Given the description of an element on the screen output the (x, y) to click on. 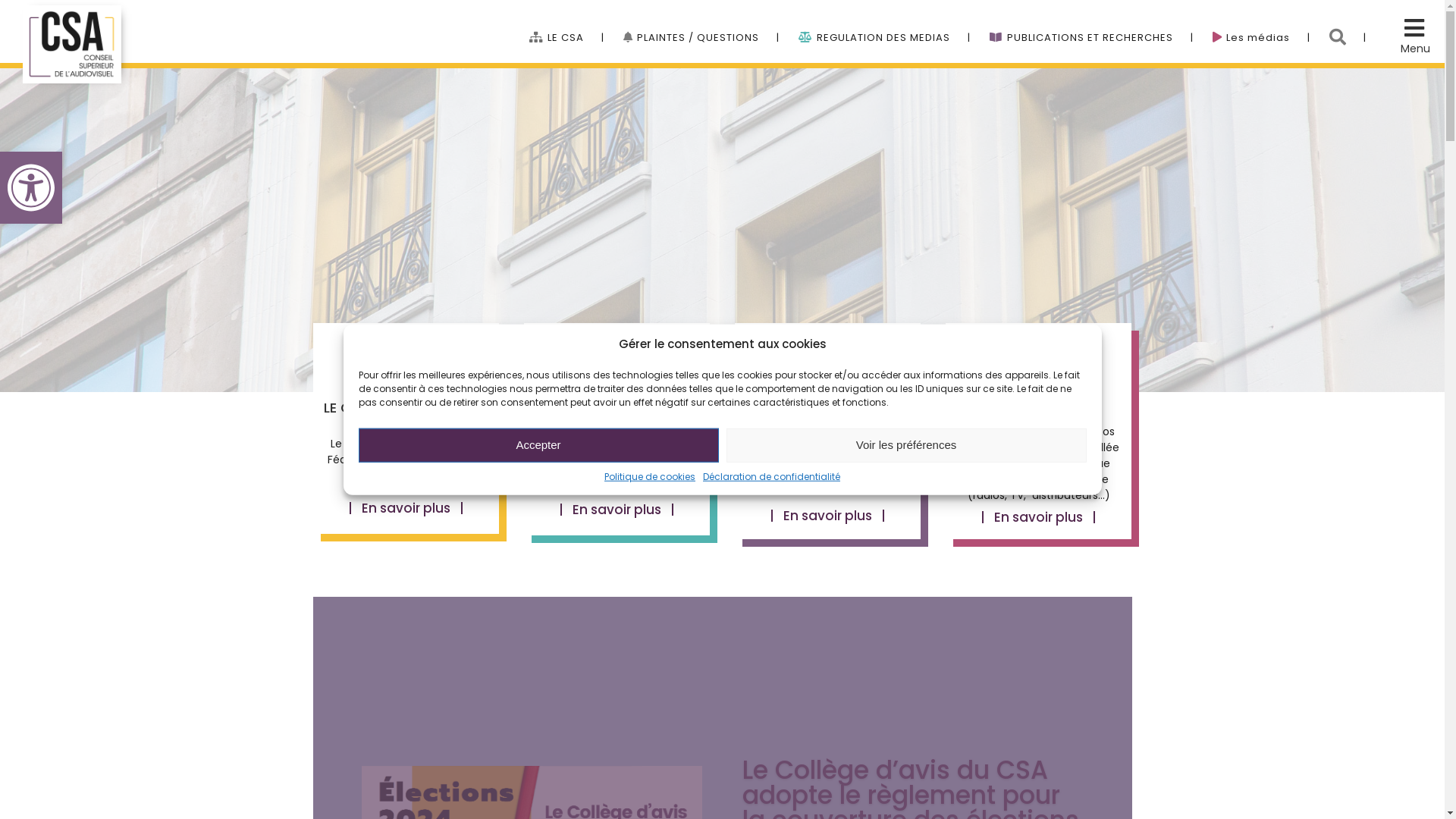
PLAINTES / QUESTIONS Element type: text (701, 22)
LE CSA Element type: text (566, 22)
PUBLICATIONS ET RECHERCHES Element type: text (1090, 22)
Accepter Element type: text (537, 444)
Menu Cache Element type: hover (1412, 32)
REGULATION DES MEDIAS Element type: text (884, 22)
Skip to content Element type: text (0, 0)
|   En savoir plus   | Element type: text (616, 513)
Menu Element type: text (1415, 48)
|   En savoir plus   | Element type: text (1038, 520)
|   En savoir plus   | Element type: text (406, 511)
Bouton de recherche Element type: hover (1347, 22)
Politique de cookies Element type: text (649, 476)
|   En savoir plus   | Element type: text (827, 519)
